Given the description of an element on the screen output the (x, y) to click on. 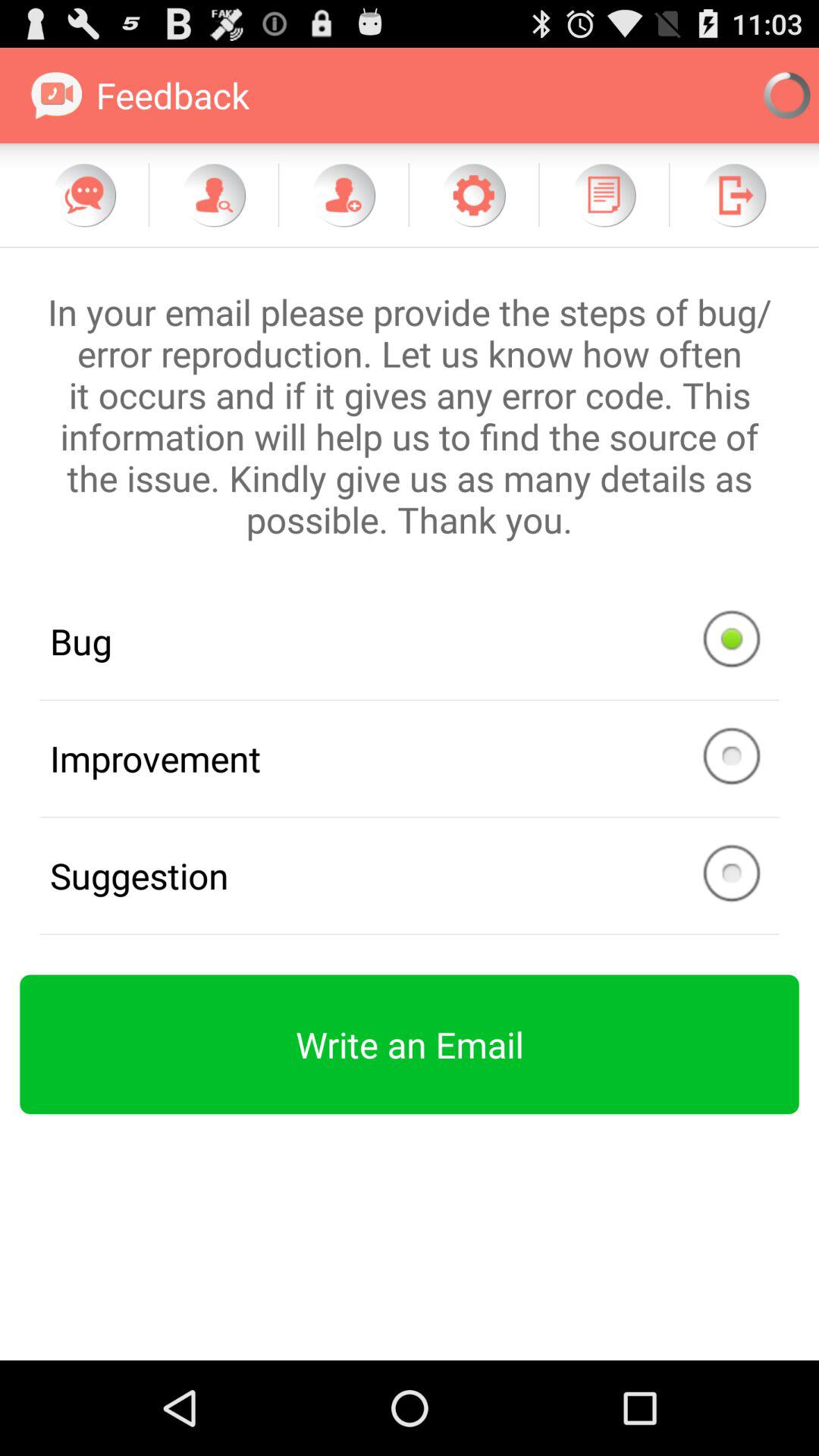
add contact (343, 194)
